Given the description of an element on the screen output the (x, y) to click on. 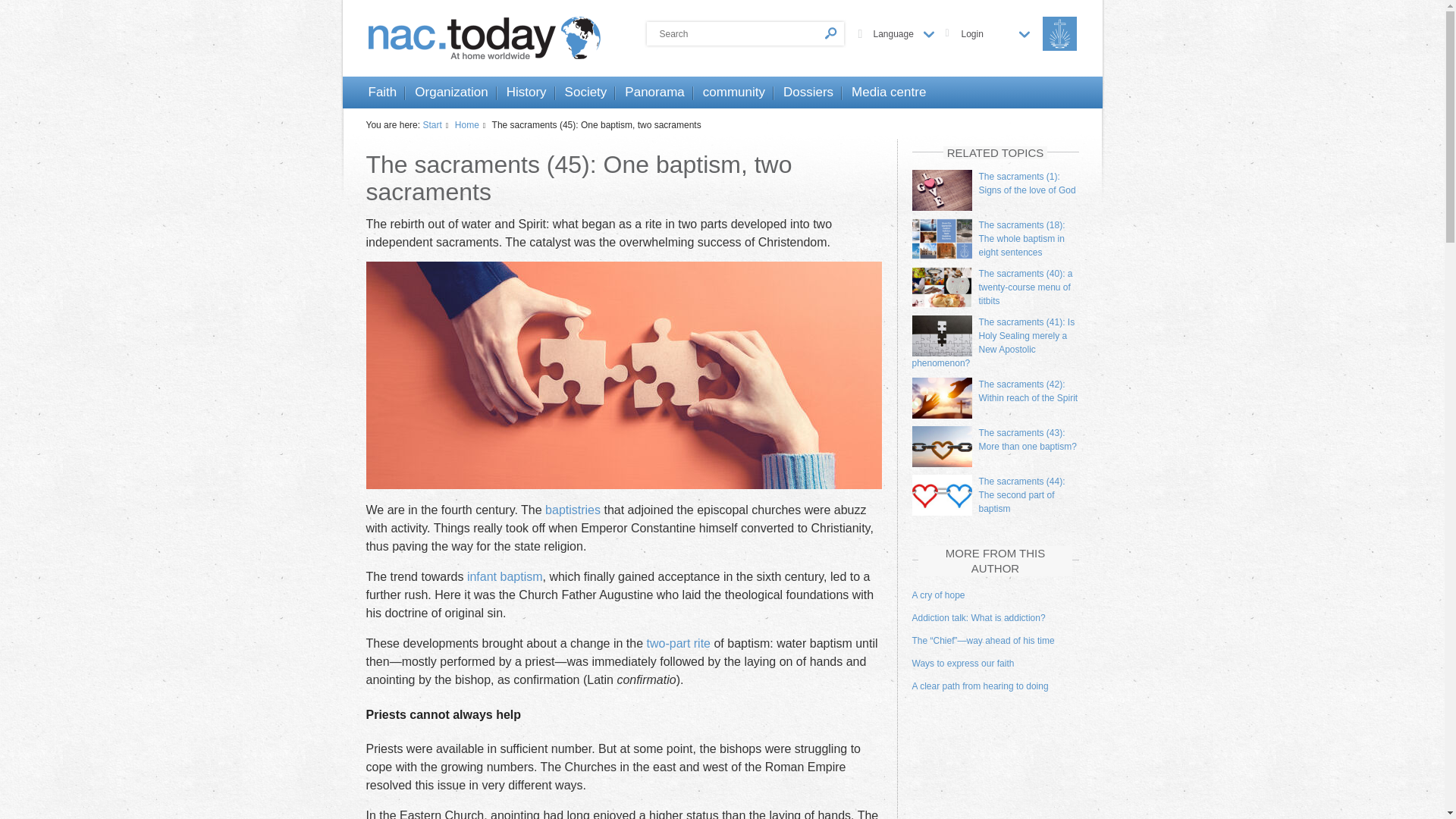
baptistries (571, 509)
Link (678, 643)
Search (745, 33)
Panorama (654, 92)
Language (903, 33)
Dossiers (807, 92)
Login (994, 33)
History (526, 92)
Home (471, 124)
two-part rite (678, 643)
